Given the description of an element on the screen output the (x, y) to click on. 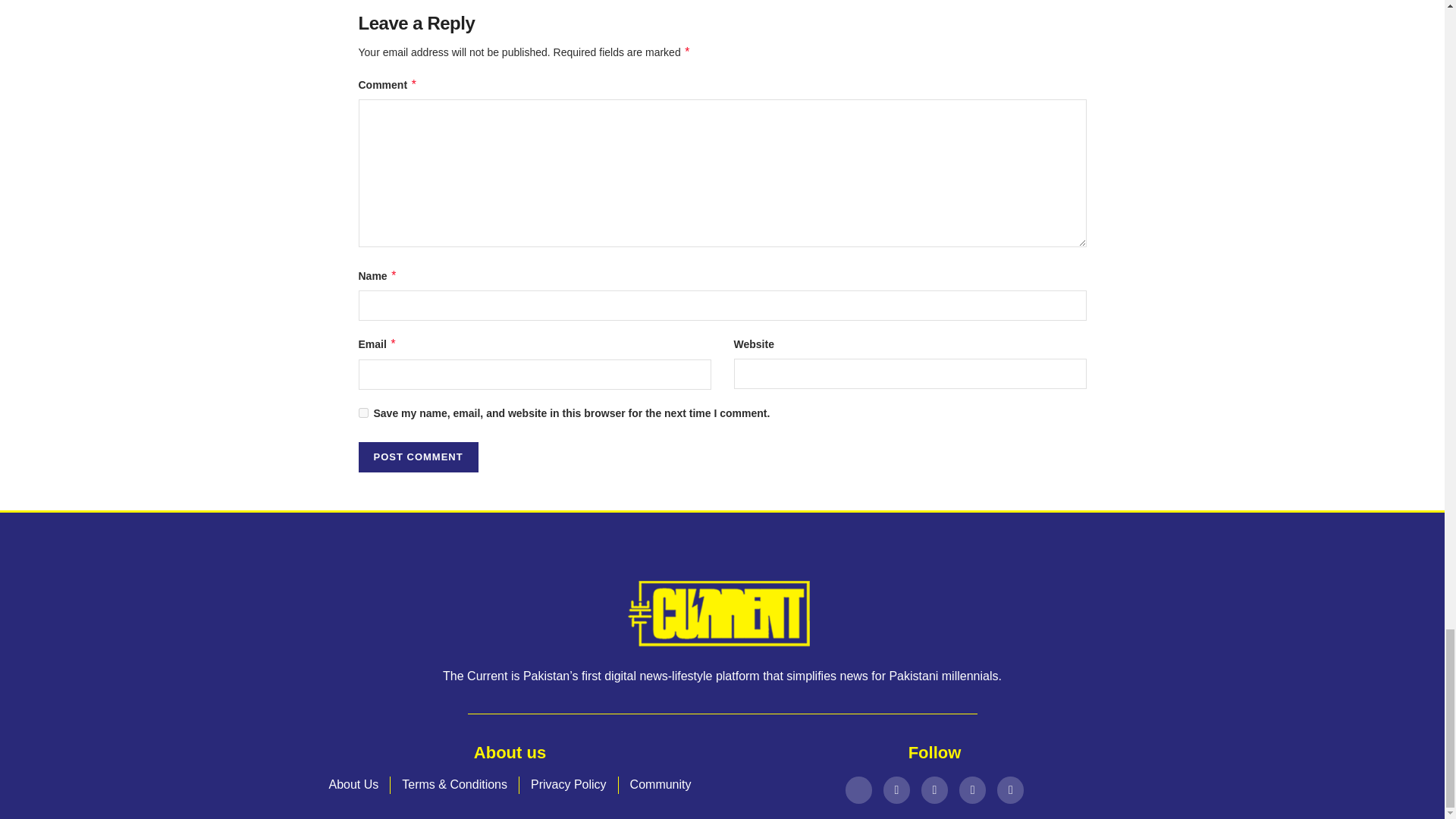
Post Comment (417, 457)
yes (363, 412)
